Given the description of an element on the screen output the (x, y) to click on. 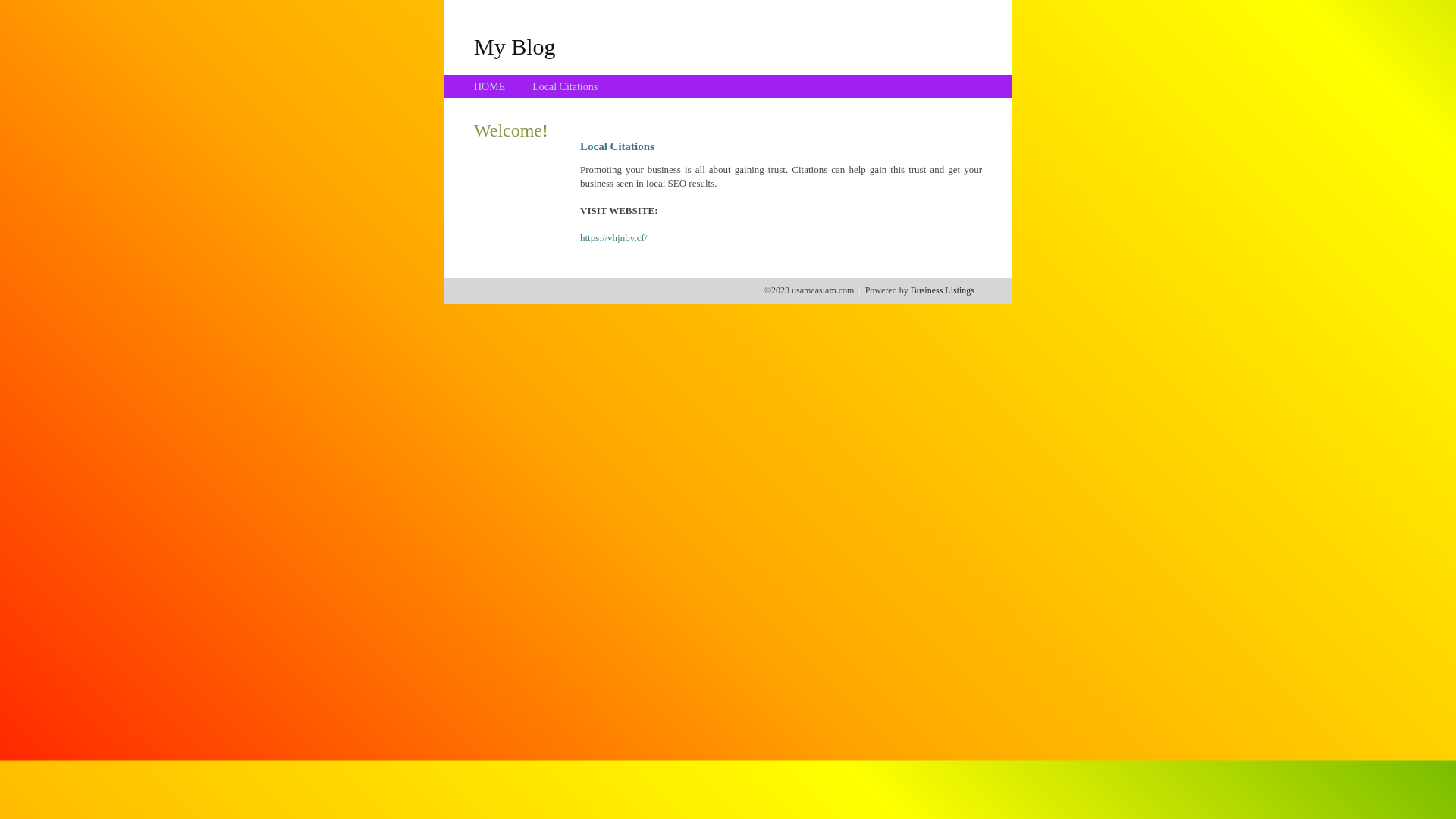
HOME Element type: text (489, 86)
https://vhjnbv.cf/ Element type: text (613, 237)
My Blog Element type: text (514, 46)
Business Listings Element type: text (942, 290)
Local Citations Element type: text (564, 86)
